Given the description of an element on the screen output the (x, y) to click on. 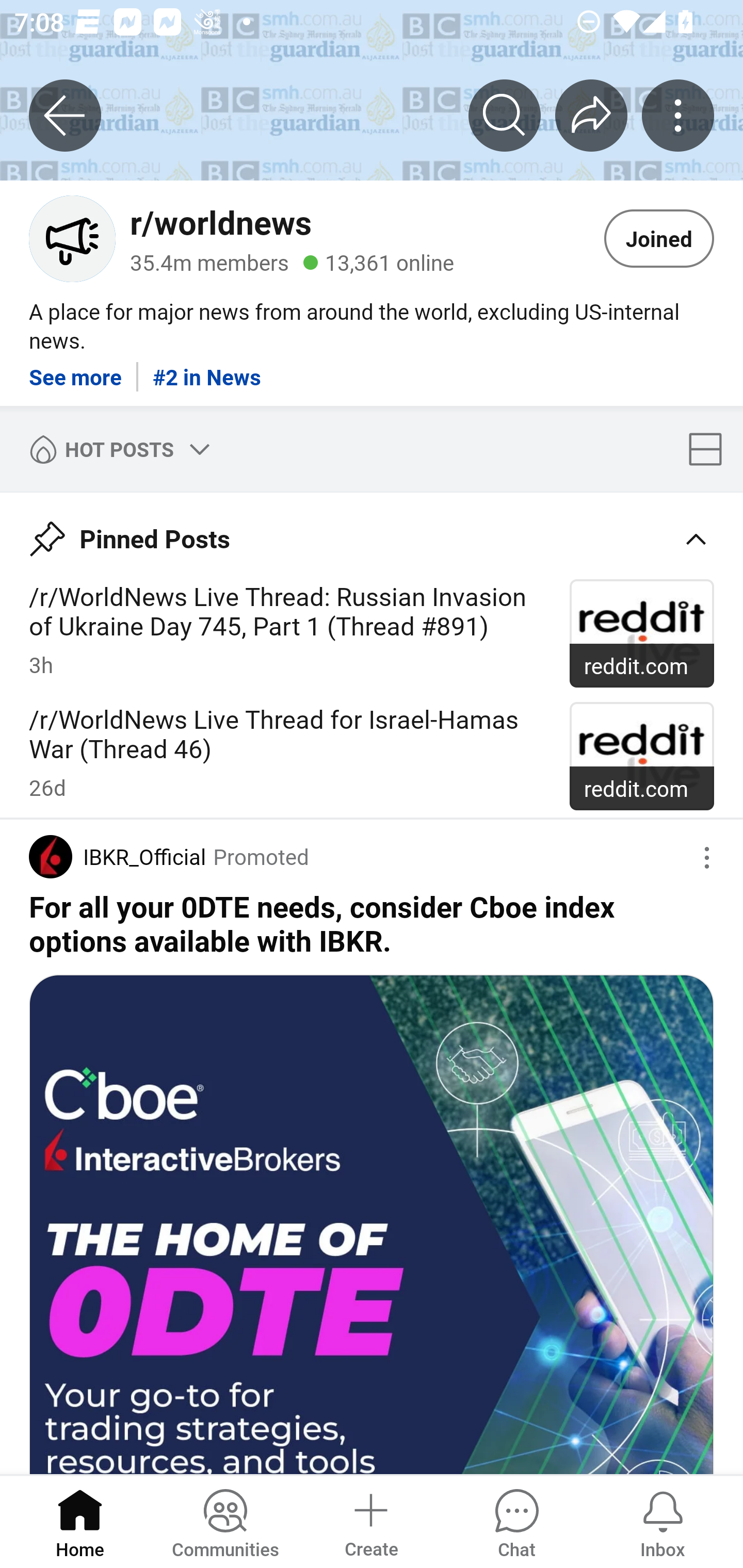
Back (64, 115)
Search r/﻿worldnews (504, 115)
Share r/﻿worldnews (591, 115)
More community actions (677, 115)
See more (74, 369)
#2 in News (206, 369)
HOT POSTS Sort by Hot posts (115, 449)
Card display (711, 449)
Pin Pinned Posts Caret (371, 532)
Author IBKR_Official (116, 856)
Image (371, 1223)
Home (80, 1520)
Communities (225, 1520)
Create a post Create (370, 1520)
Chat (516, 1520)
Inbox (662, 1520)
